Given the description of an element on the screen output the (x, y) to click on. 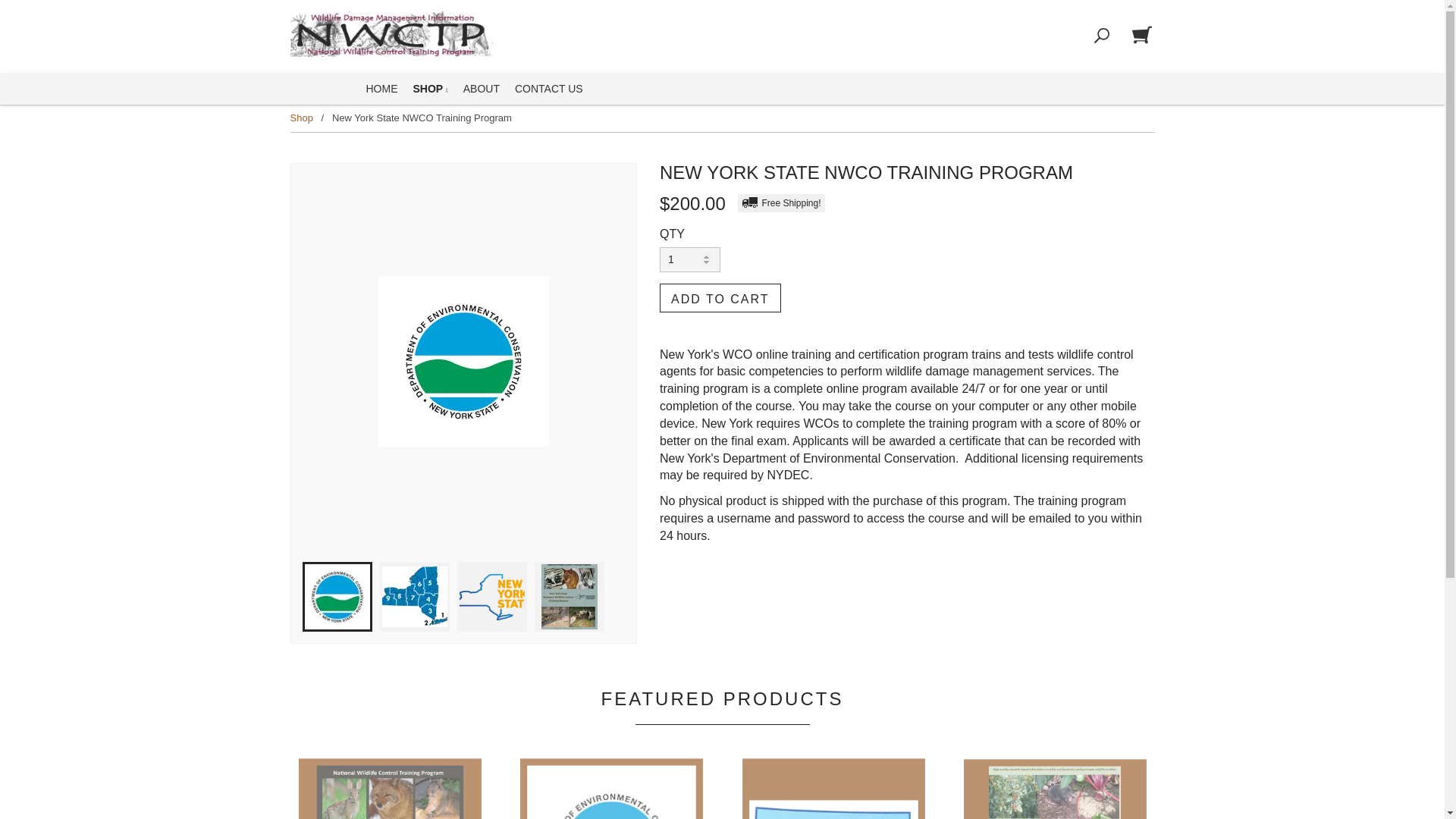
ABOUT (480, 88)
Shop (301, 117)
HOME (381, 88)
CONTACT US (549, 88)
1 (689, 259)
SHOP (429, 88)
Add to Cart (719, 297)
Add to Cart (719, 297)
